Given the description of an element on the screen output the (x, y) to click on. 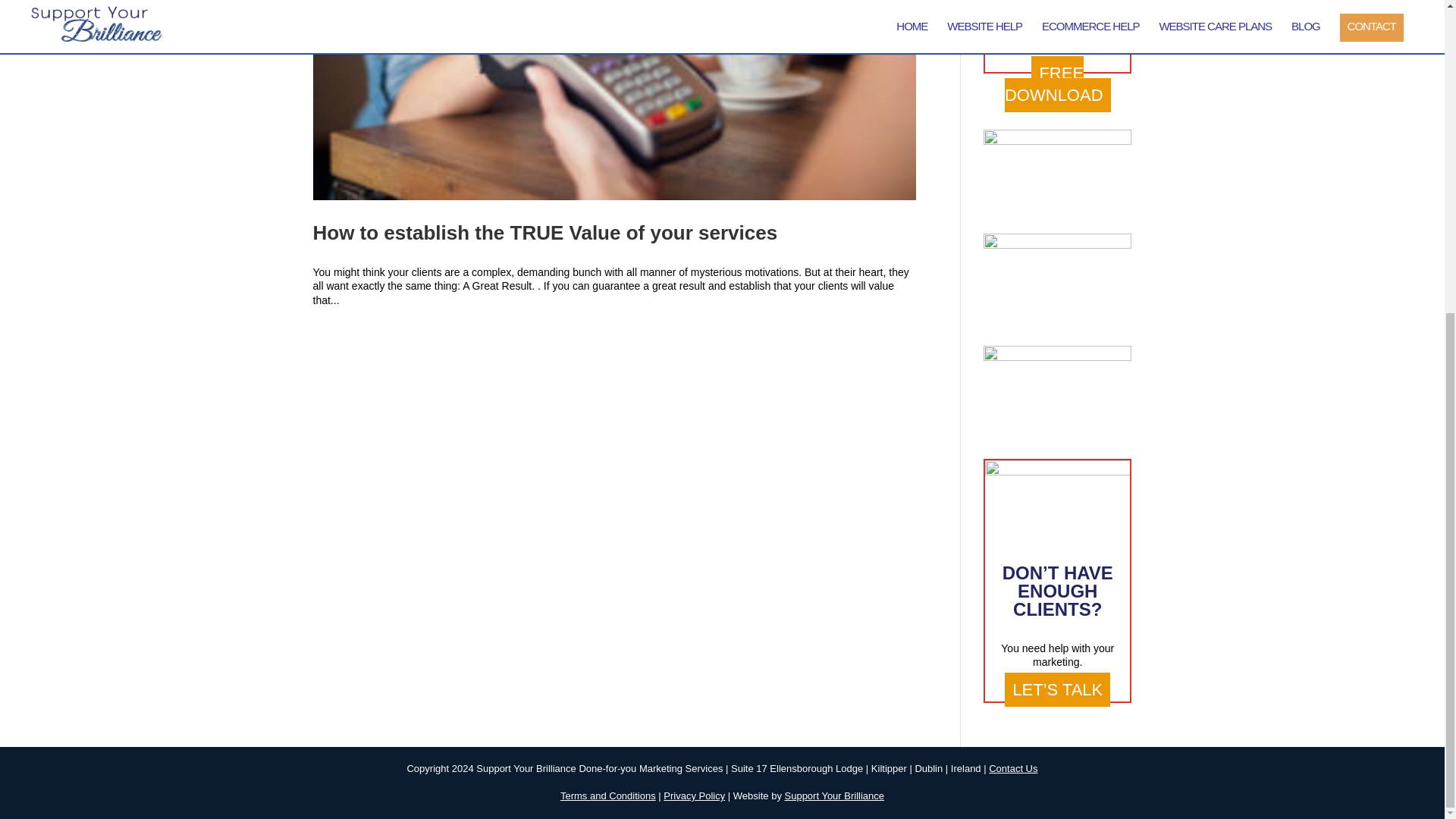
Contact Us (1012, 767)
FREE DOWNLOAD (1057, 84)
Terms and Conditions (608, 795)
Privacy Policy (694, 795)
Support Your Brilliance (833, 795)
How to establish the TRUE Value of your services (545, 232)
